Given the description of an element on the screen output the (x, y) to click on. 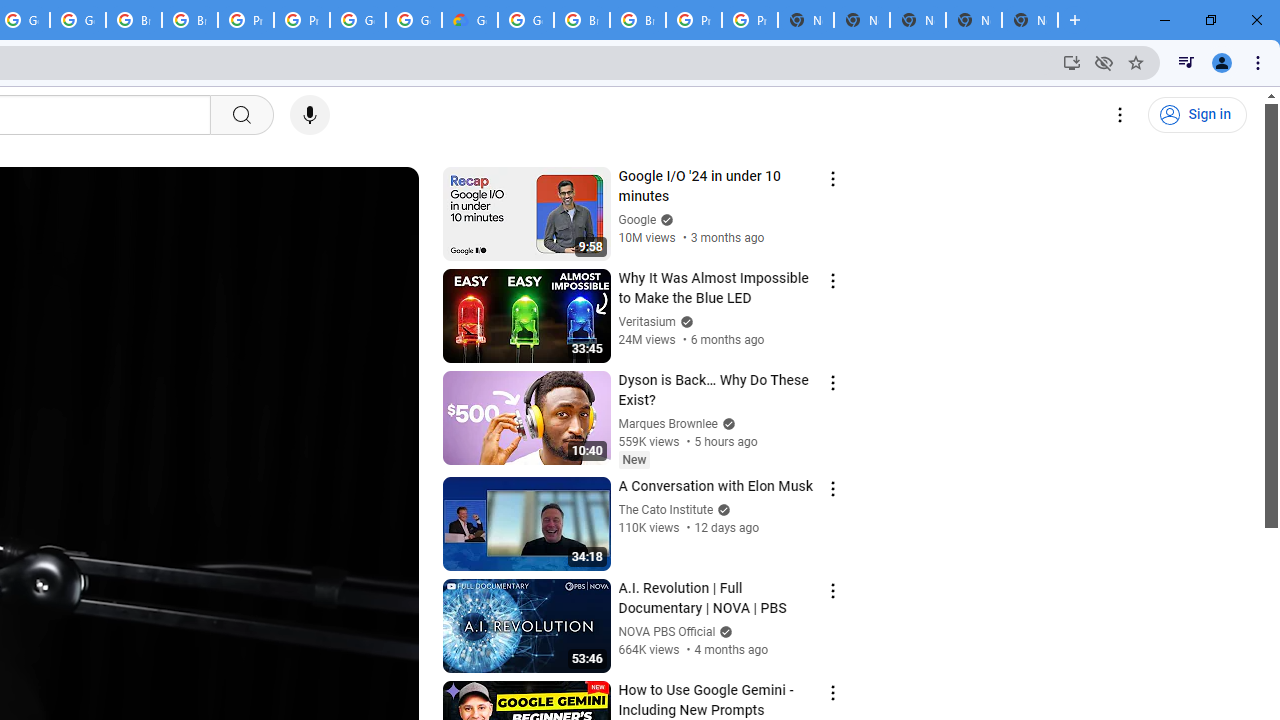
Google Cloud Platform (525, 20)
Browse Chrome as a guest - Computer - Google Chrome Help (582, 20)
Google Cloud Platform (413, 20)
New Tab (1030, 20)
Browse Chrome as a guest - Computer - Google Chrome Help (134, 20)
